Given the description of an element on the screen output the (x, y) to click on. 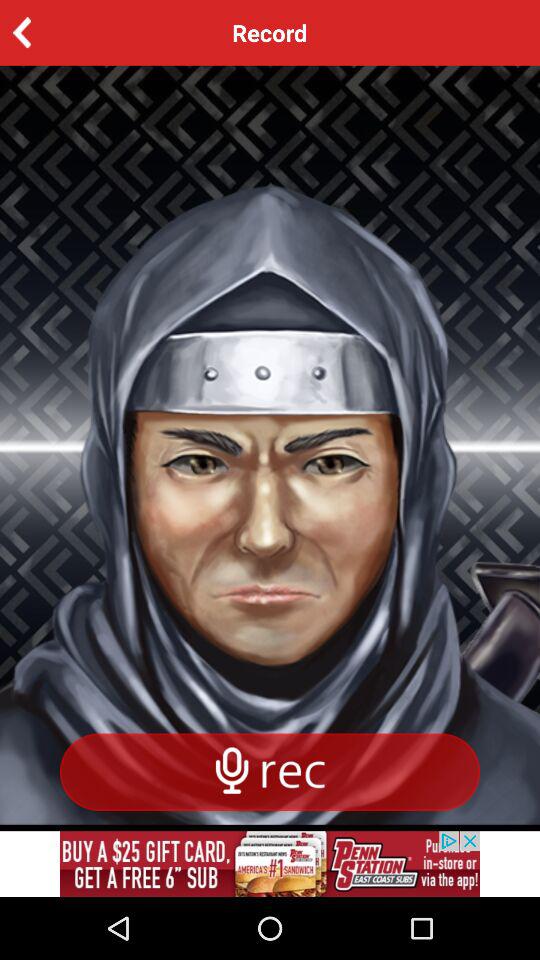
register audio (270, 771)
